Given the description of an element on the screen output the (x, y) to click on. 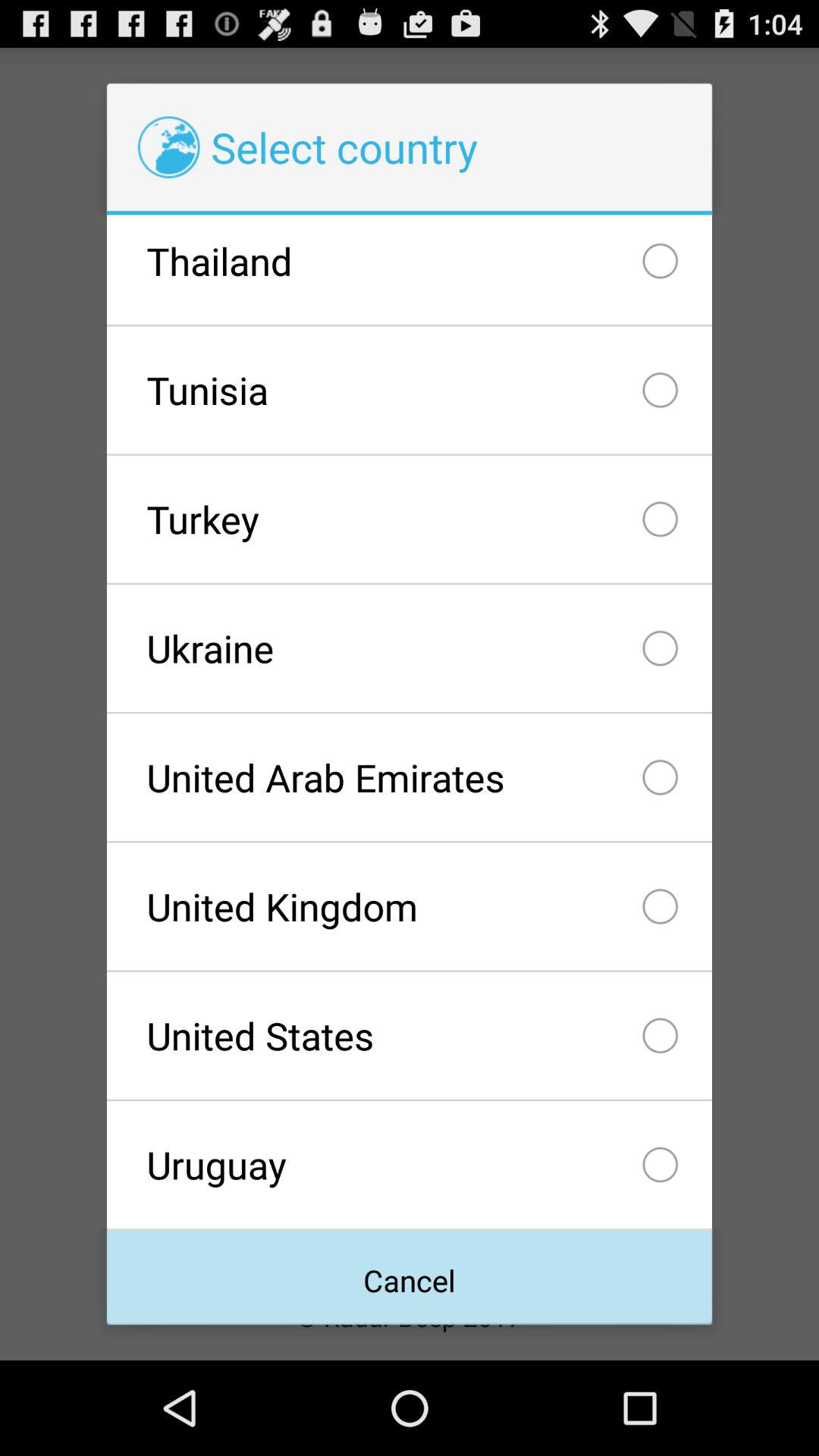
press checkbox above ukraine item (409, 518)
